Given the description of an element on the screen output the (x, y) to click on. 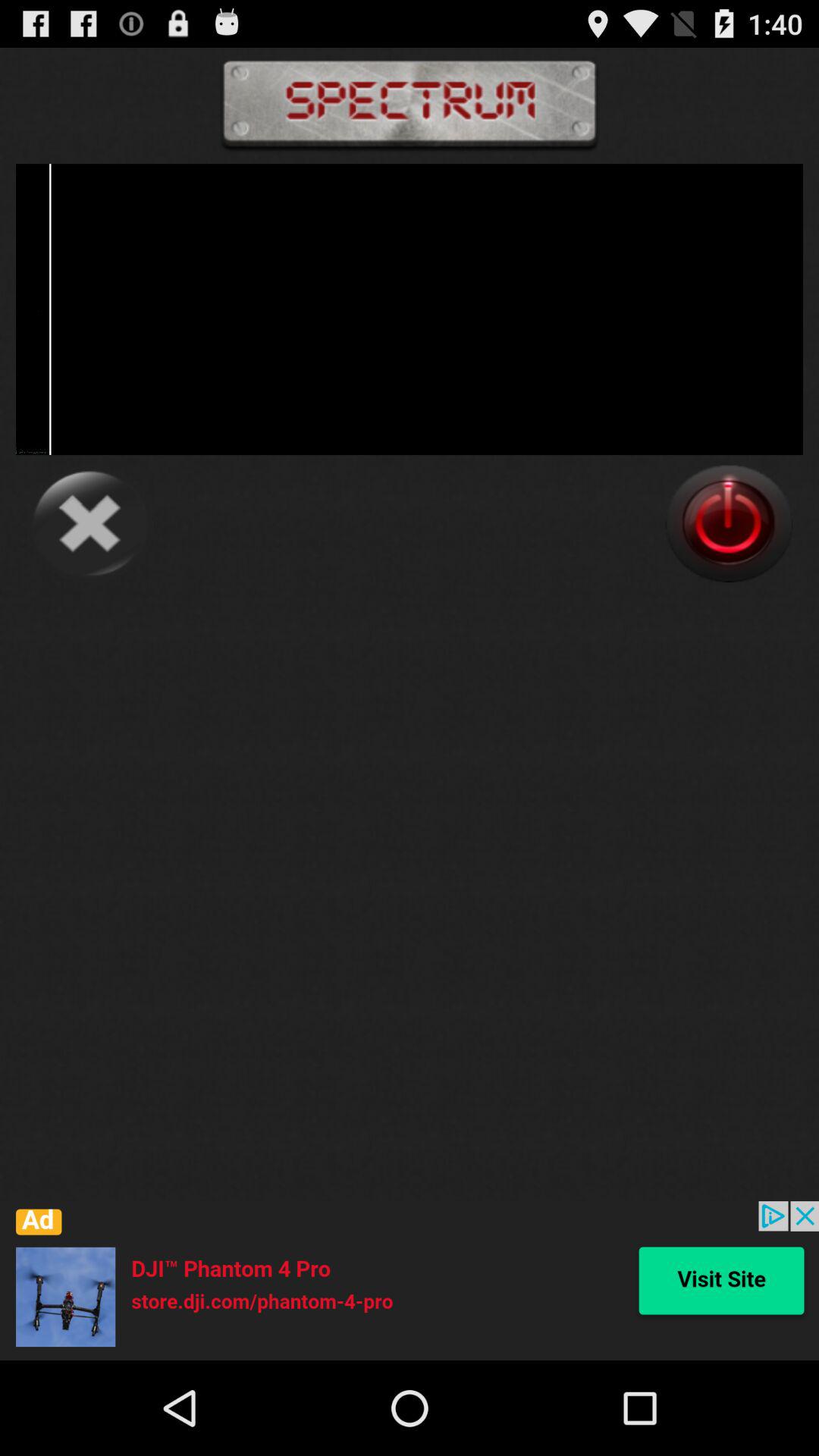
close button (89, 523)
